Given the description of an element on the screen output the (x, y) to click on. 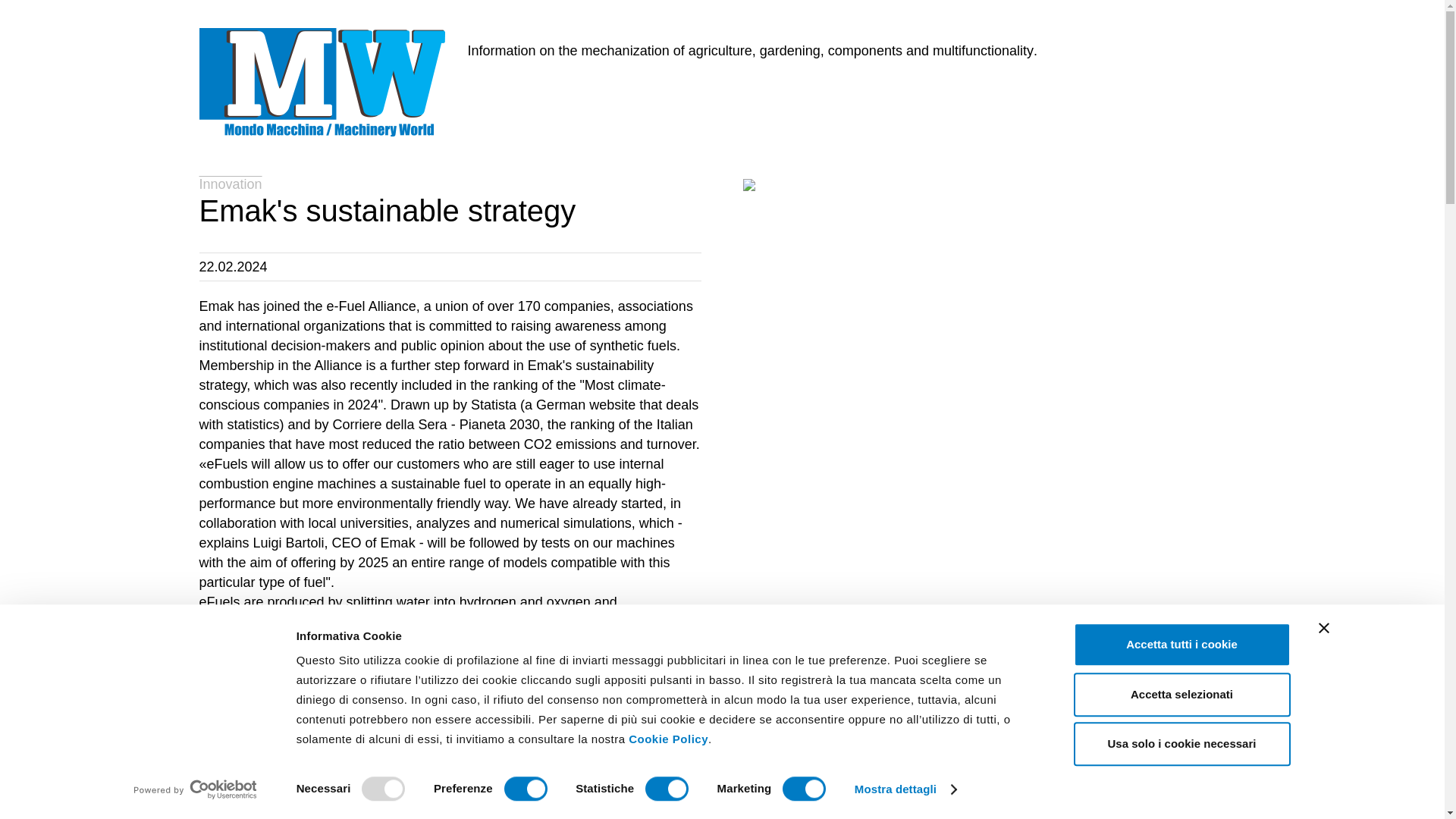
Mostra dettagli (905, 789)
LAST EDITION (540, 92)
Cookie Policy (667, 738)
Accetta tutti i cookie (1182, 644)
Accetta selezionati (1182, 694)
Usa solo i cookie necessari (1182, 743)
